Given the description of an element on the screen output the (x, y) to click on. 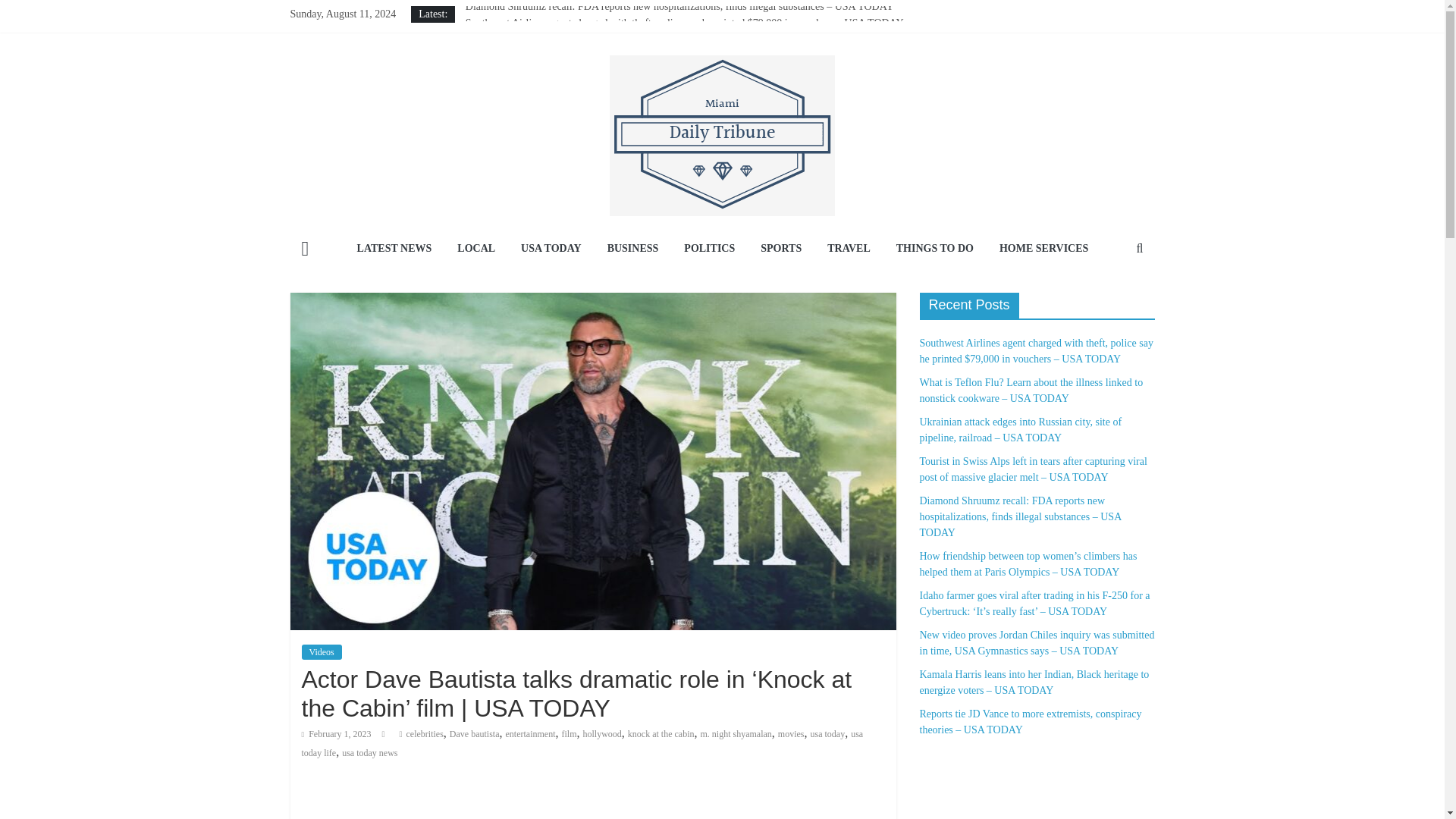
HOME SERVICES (1043, 248)
Find the best local services (1043, 248)
knock at the cabin (660, 733)
celebrities (425, 733)
Dave bautista (474, 733)
POLITICS (708, 248)
usa today news (369, 752)
TRAVEL (848, 248)
Trending sports news, scores, schedules, photos, videos (780, 248)
movies (791, 733)
